Given the description of an element on the screen output the (x, y) to click on. 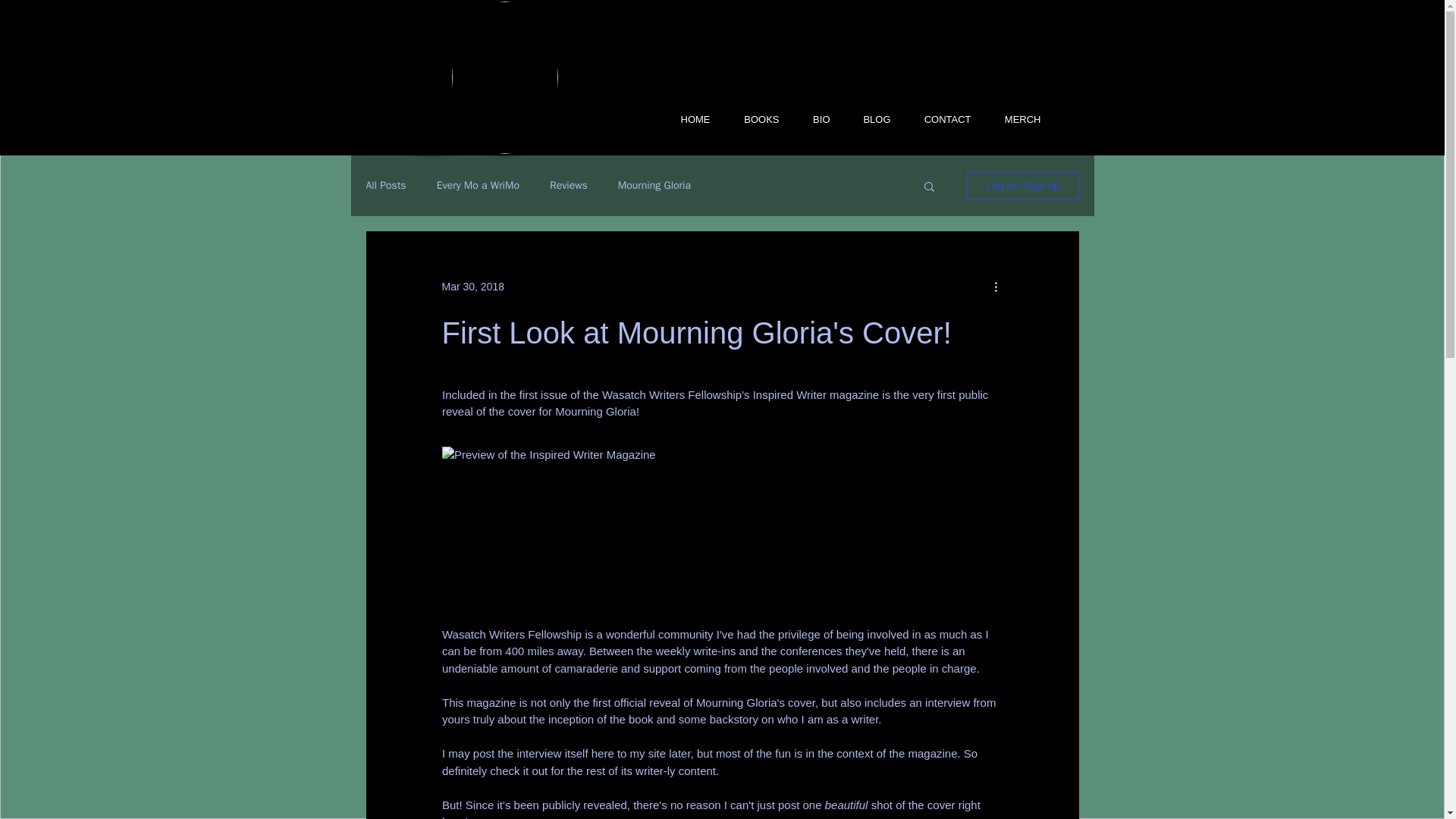
Every Mo a WriMo (477, 185)
All Posts (385, 185)
HOME (687, 119)
BIO (812, 119)
BOOKS (753, 119)
Reviews (569, 185)
BLOG (868, 119)
Mourning Gloria (653, 185)
Mar 30, 2018 (472, 286)
CONTACT (939, 119)
